Given the description of an element on the screen output the (x, y) to click on. 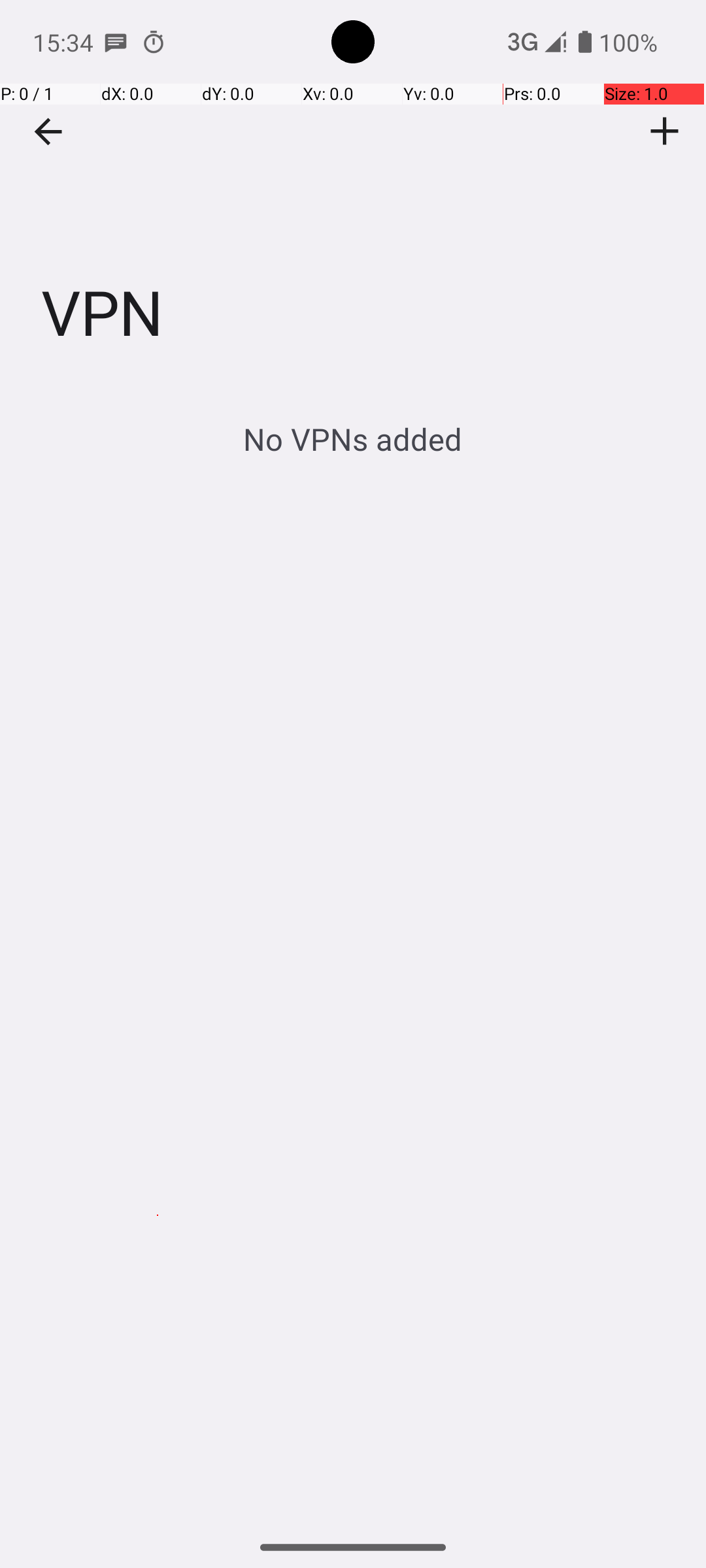
No VPNs added Element type: android.widget.TextView (352, 438)
Add VPN profile Element type: android.widget.TextView (664, 131)
